Given the description of an element on the screen output the (x, y) to click on. 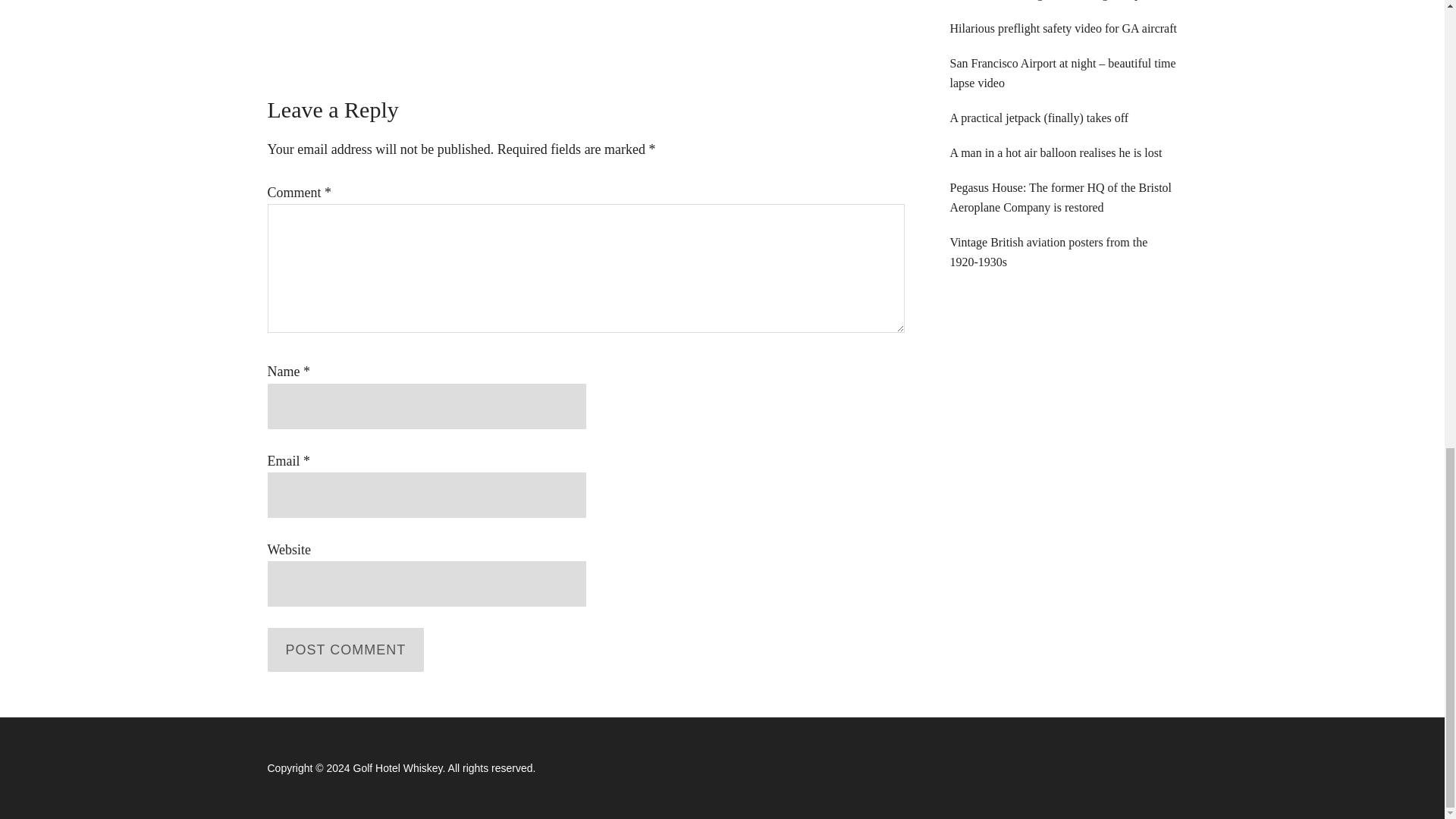
A man in a hot air balloon realises he is lost (1055, 152)
Hilarious preflight safety video for GA aircraft (1062, 28)
Vintage British aviation posters from the 1920-1930s (1048, 251)
Post Comment (344, 649)
Post Comment (344, 649)
